Given the description of an element on the screen output the (x, y) to click on. 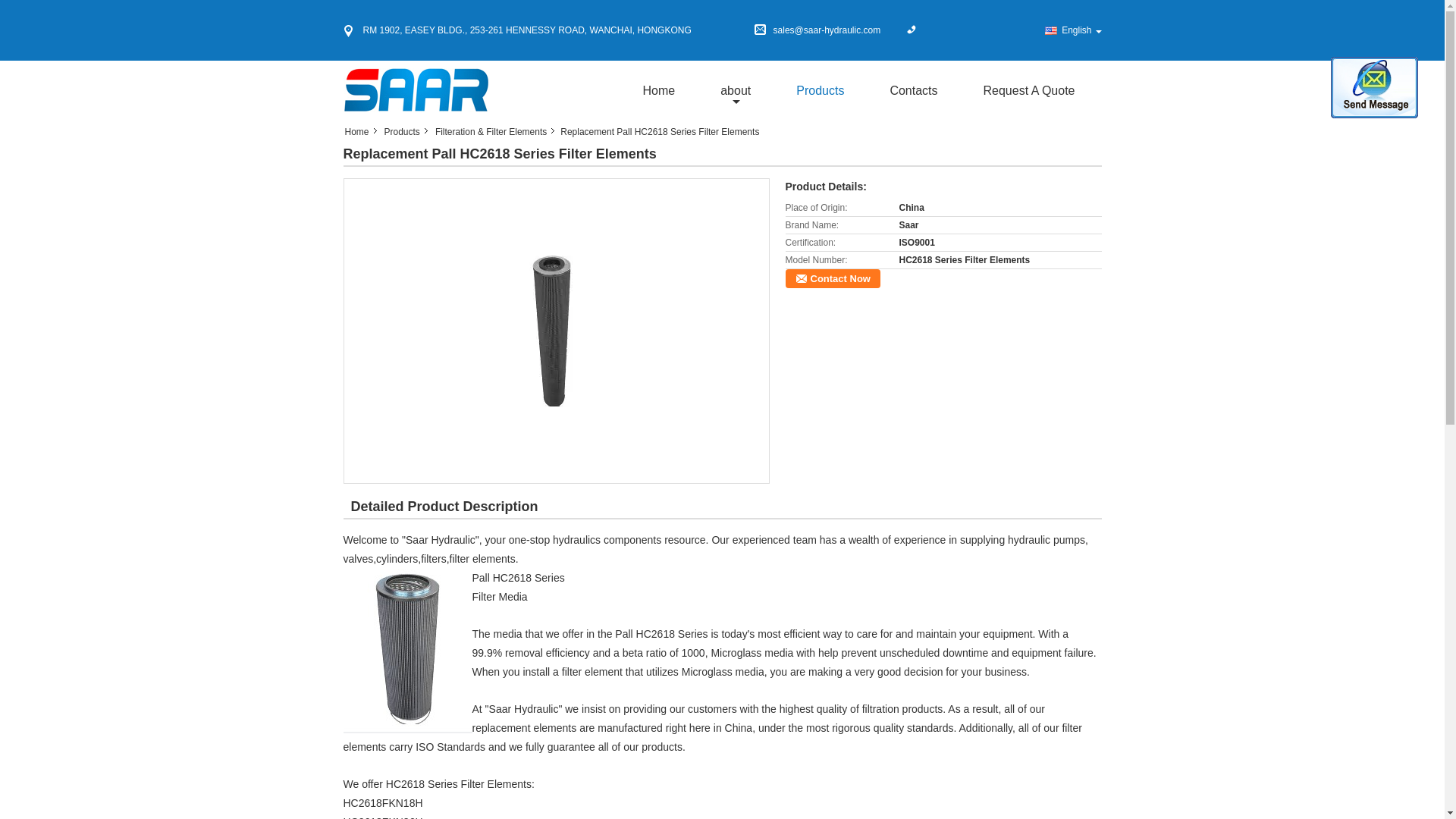
English (1072, 30)
about (735, 90)
Contact Now (833, 278)
Products (820, 90)
Home (658, 90)
Request A Quote (1028, 90)
Products (403, 131)
Contacts (913, 90)
Home (360, 131)
